Given the description of an element on the screen output the (x, y) to click on. 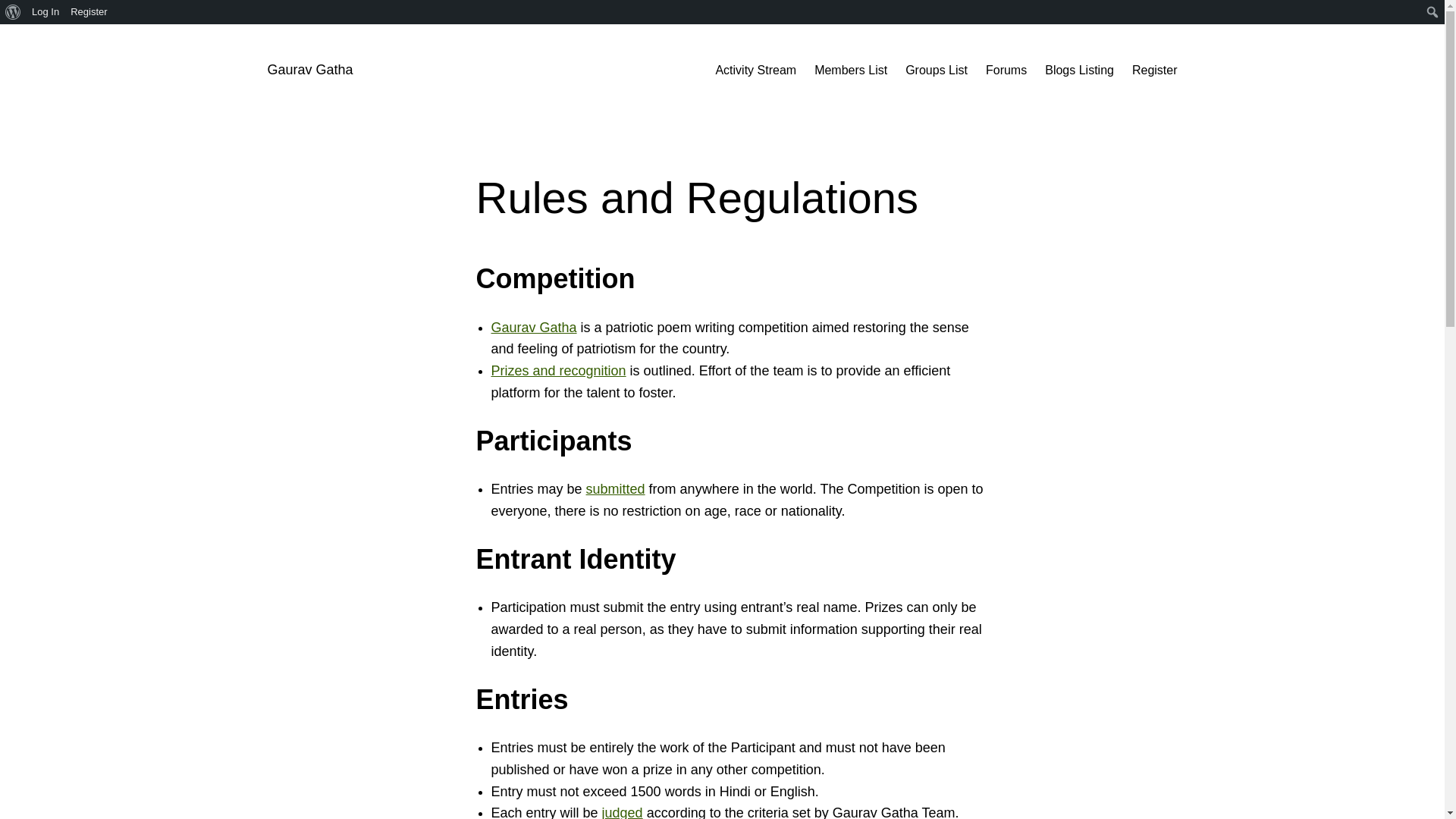
judged (622, 812)
Register (89, 12)
Log In (45, 12)
Blogs Listing (1079, 70)
Prizes and recognition (559, 370)
Members List (849, 70)
Activity Stream (755, 70)
Gaurav Gatha (534, 327)
Gaurav Gatha (534, 327)
Register (1154, 70)
Groups List (936, 70)
Prizes and Recognition (559, 370)
submitted (615, 488)
Search (16, 13)
